Given the description of an element on the screen output the (x, y) to click on. 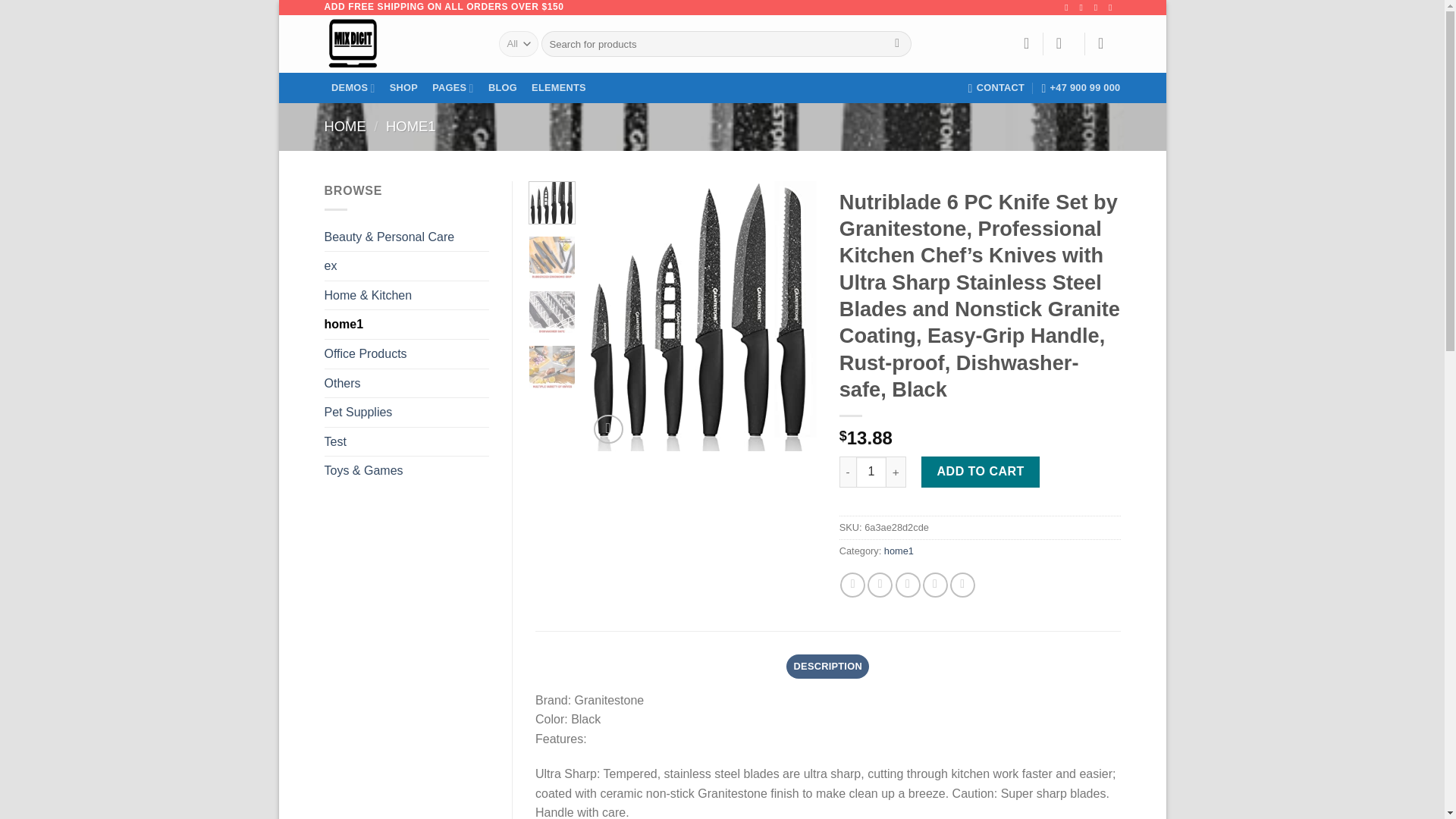
NOBABIAN (400, 43)
Qty (871, 471)
SHOP (403, 87)
PAGES (453, 87)
DEMOS (353, 87)
1 (871, 471)
